Given the description of an element on the screen output the (x, y) to click on. 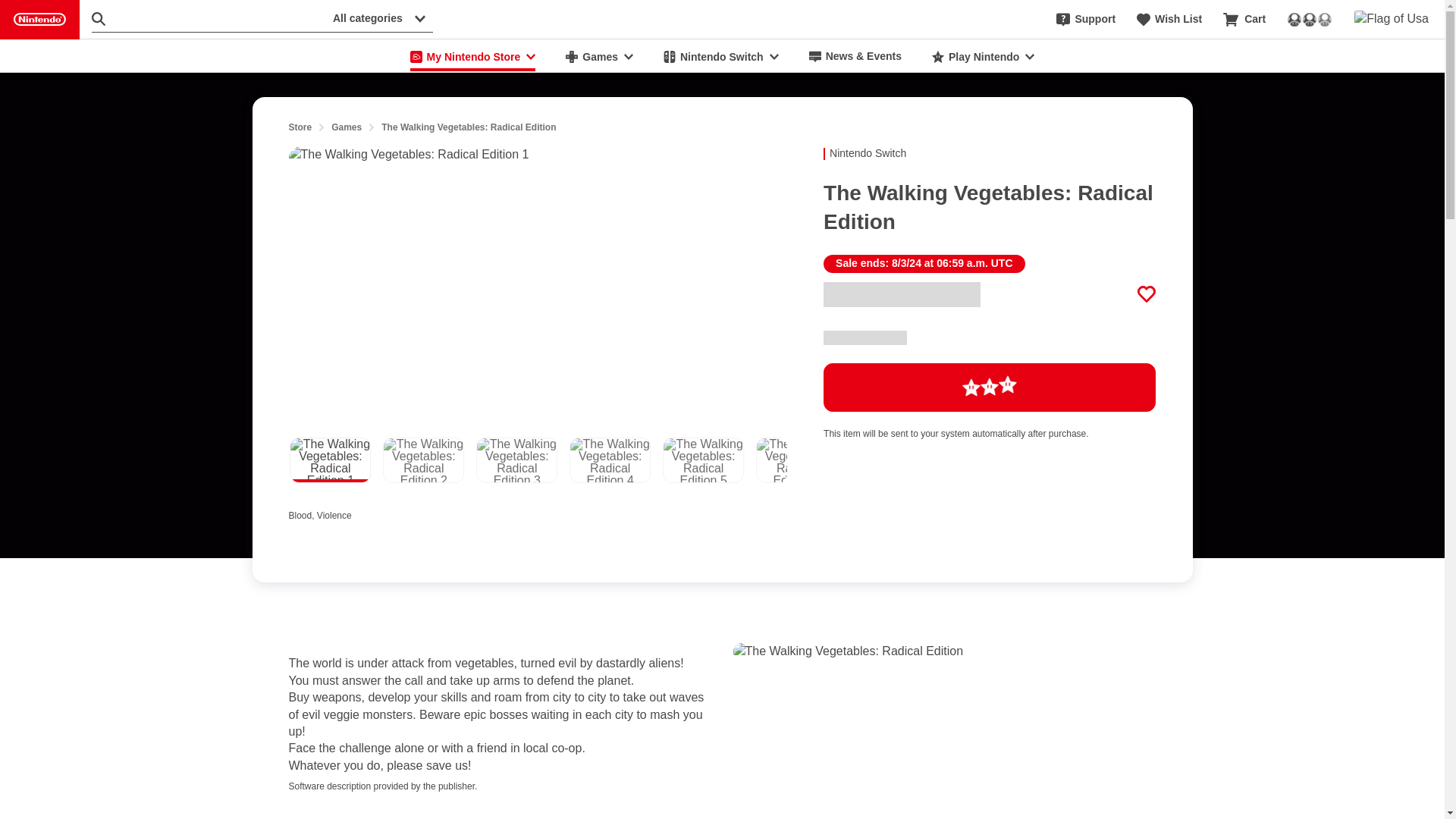
Loading (990, 387)
Store (299, 127)
Add to Wish List (1146, 294)
Nintendo (40, 19)
Wish List (1169, 19)
Games (599, 56)
Cart (1244, 19)
Play Nintendo (983, 56)
Games (346, 127)
Support (1086, 19)
My Nintendo Store (472, 56)
Blood, Violence (333, 513)
Nintendo Switch (720, 56)
